Given the description of an element on the screen output the (x, y) to click on. 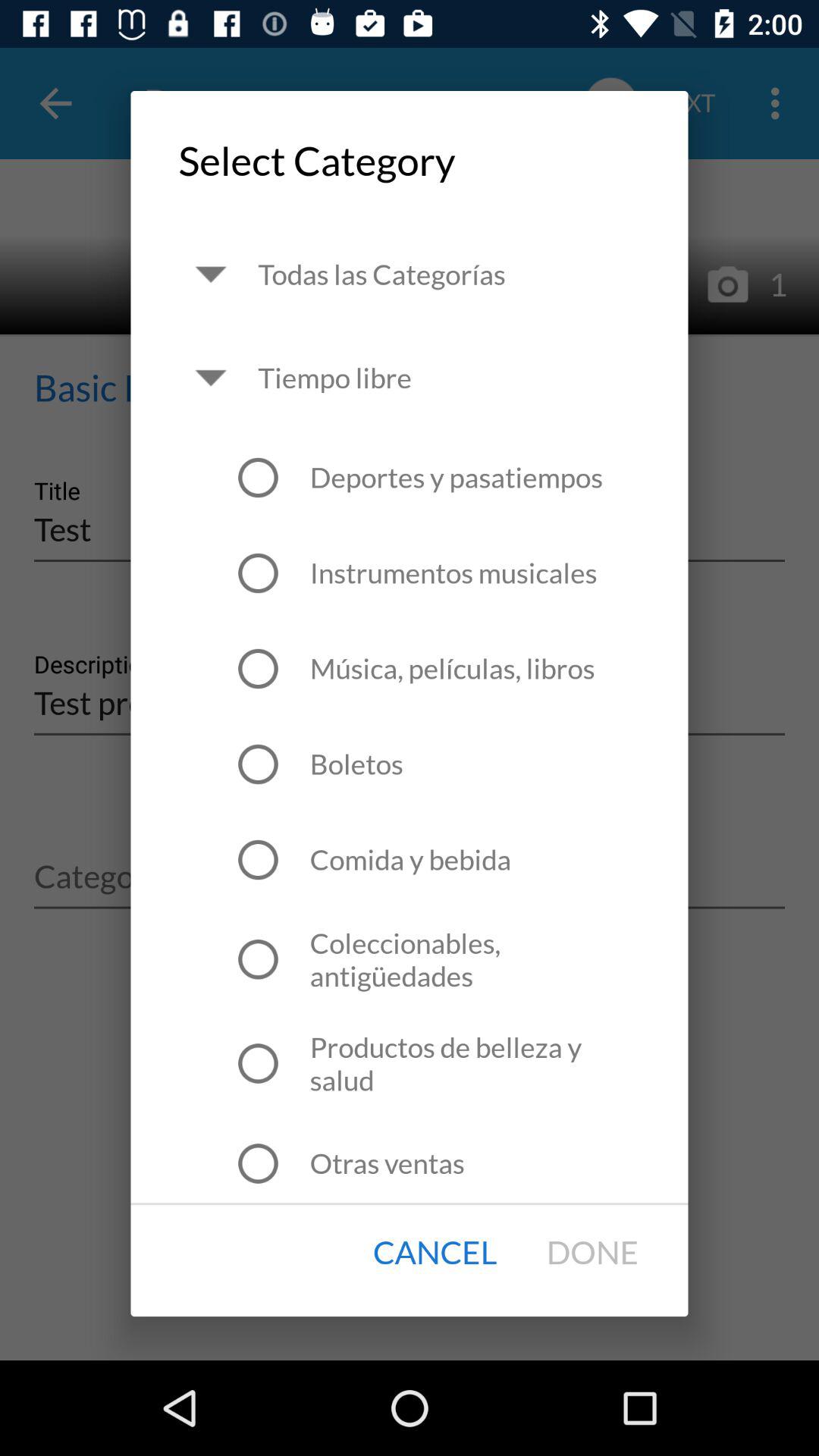
turn off icon next to cancel (592, 1252)
